Given the description of an element on the screen output the (x, y) to click on. 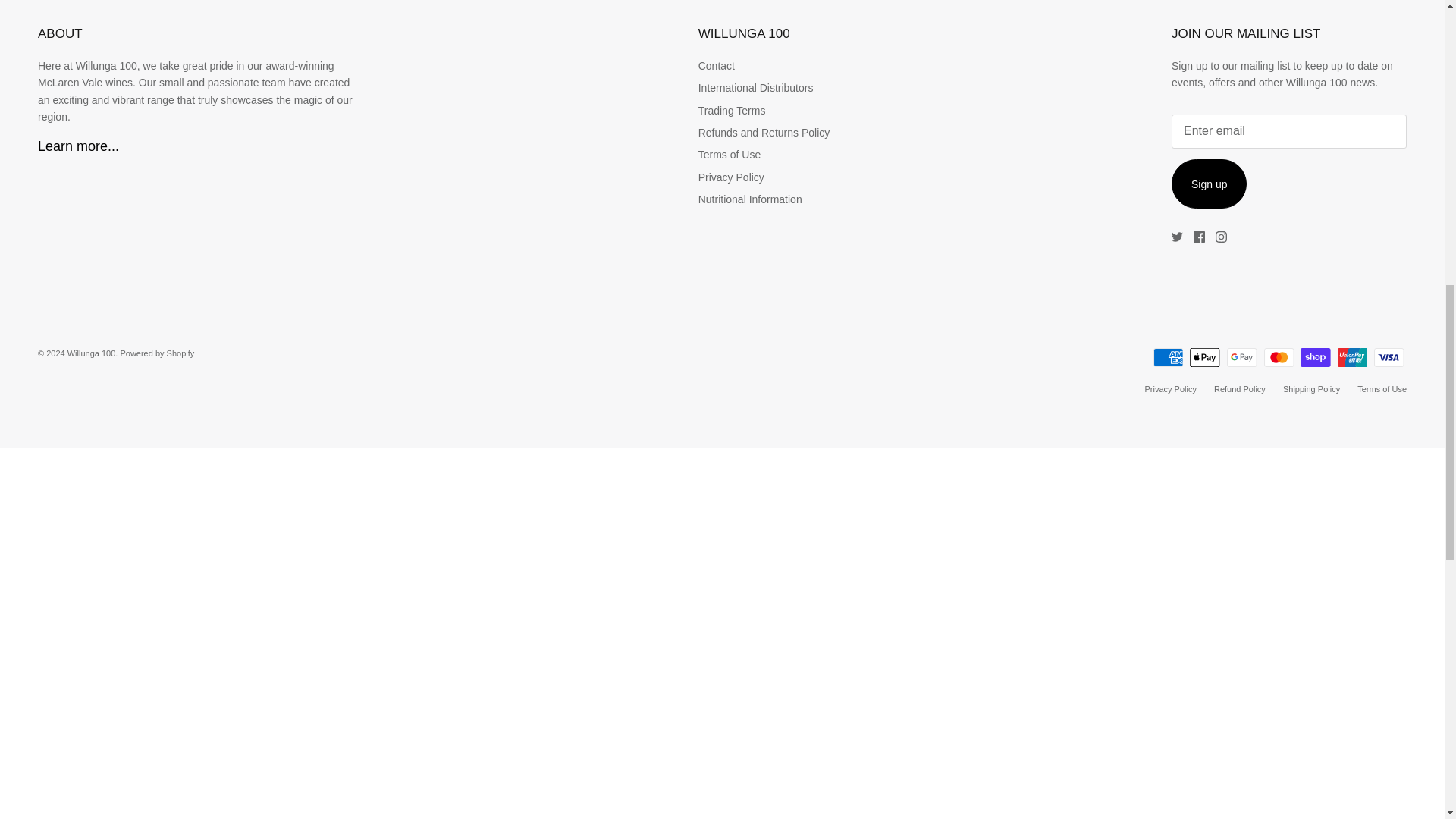
Visa (1388, 357)
Twitter (1177, 236)
Union Pay (1352, 357)
Mastercard (1277, 357)
American Express (1168, 357)
Apple Pay (1204, 357)
About (78, 146)
Google Pay (1241, 357)
Instagram (1221, 236)
Shop Pay (1315, 357)
